Given the description of an element on the screen output the (x, y) to click on. 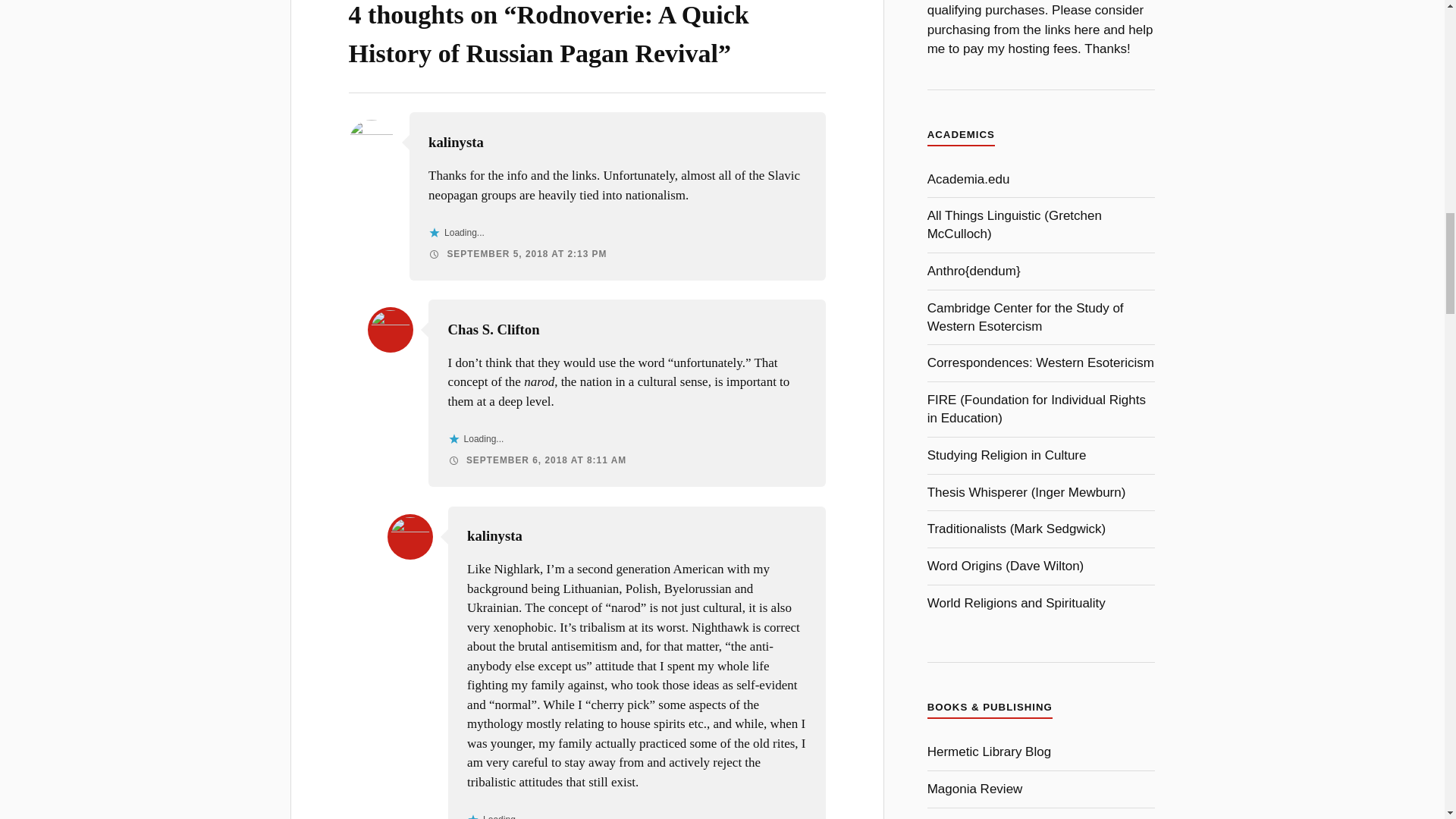
Chas S. Clifton (494, 329)
SEPTEMBER 6, 2018 AT 8:11 AM (537, 460)
SEPTEMBER 5, 2018 AT 2:13 PM (517, 253)
